Given the description of an element on the screen output the (x, y) to click on. 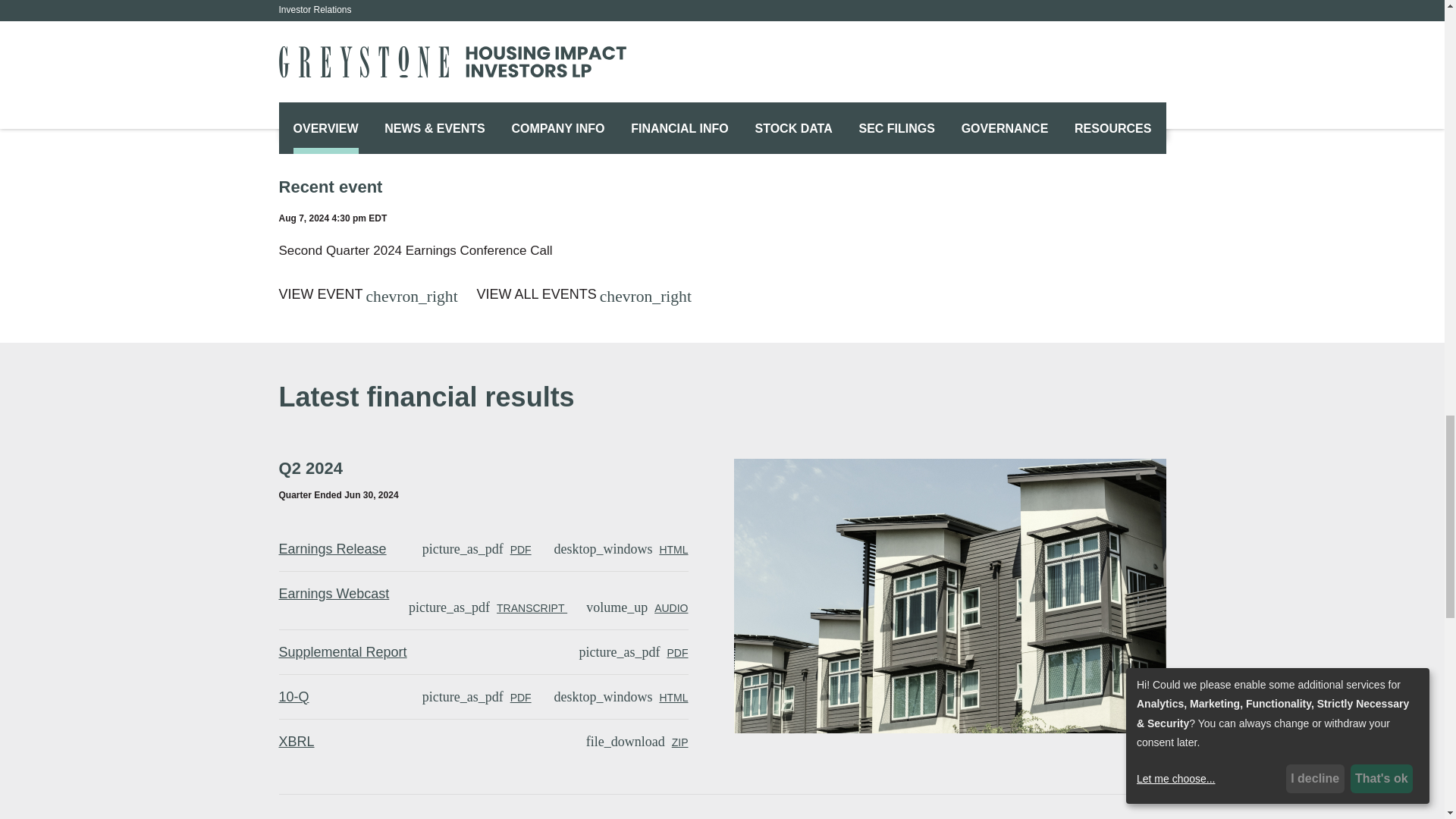
Opens in a new window (334, 593)
Opens in a new window (343, 652)
Opens in a new window (633, 653)
Opens in a new window (488, 607)
Opens in a new window (636, 607)
